Given the description of an element on the screen output the (x, y) to click on. 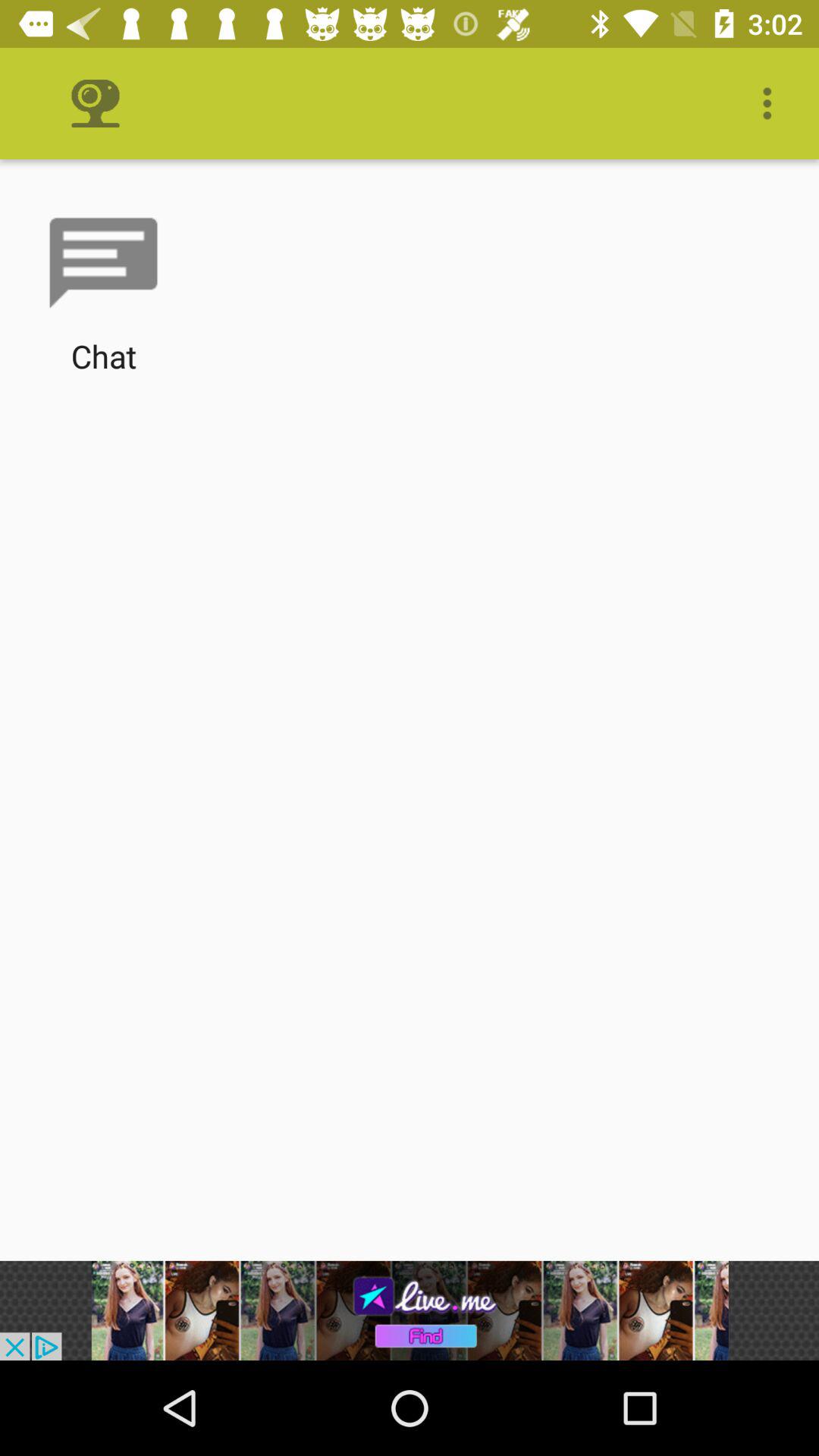
open advertisement (409, 1310)
